Given the description of an element on the screen output the (x, y) to click on. 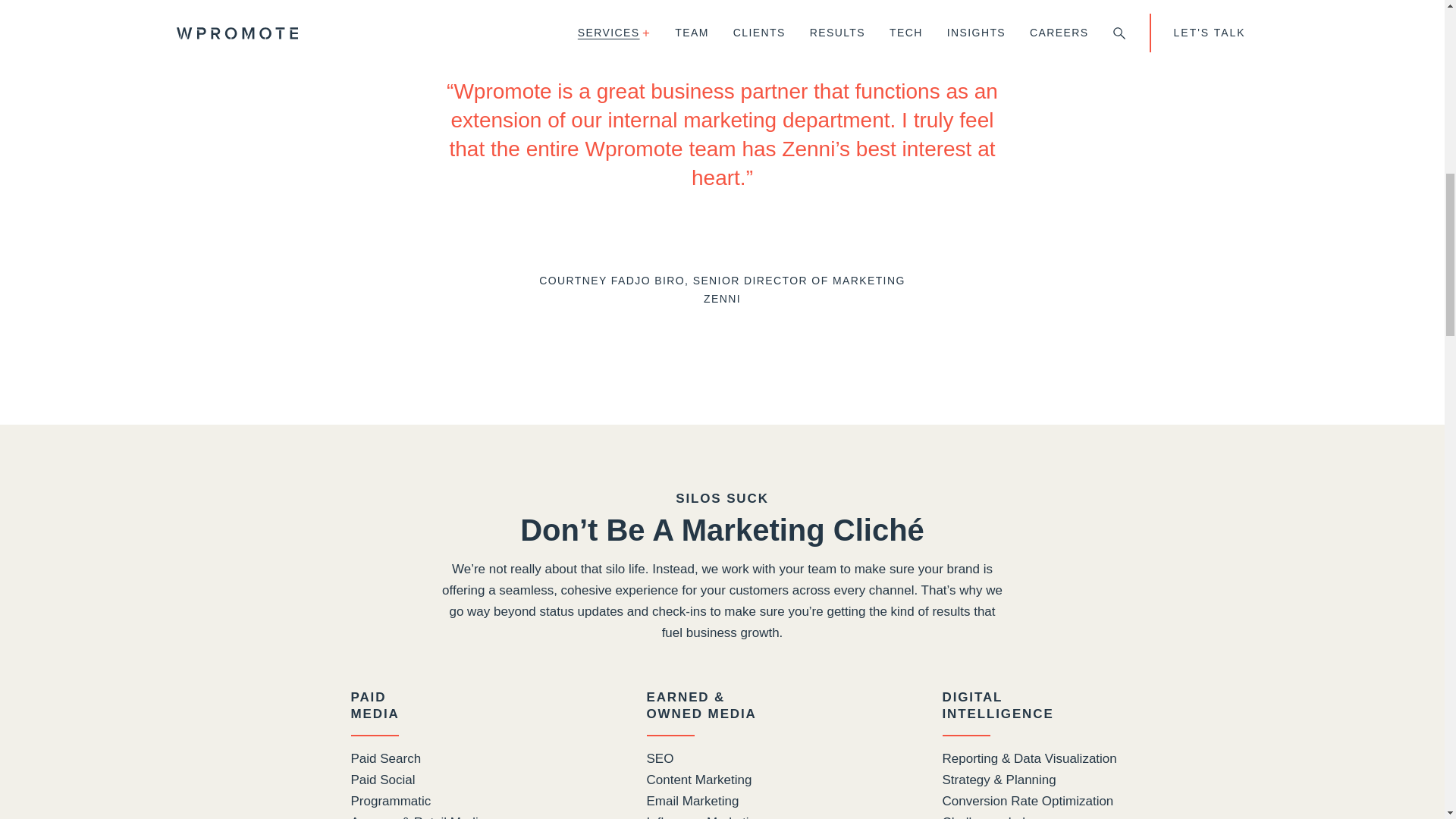
SEO (759, 758)
Influencer Marketing (759, 815)
Paid Social (464, 780)
Programmatic (464, 801)
Email Marketing (759, 801)
Content Marketing (759, 780)
Challenger Labs (374, 705)
Conversion Rate Optimization (1055, 815)
Paid Search (1055, 801)
